Given the description of an element on the screen output the (x, y) to click on. 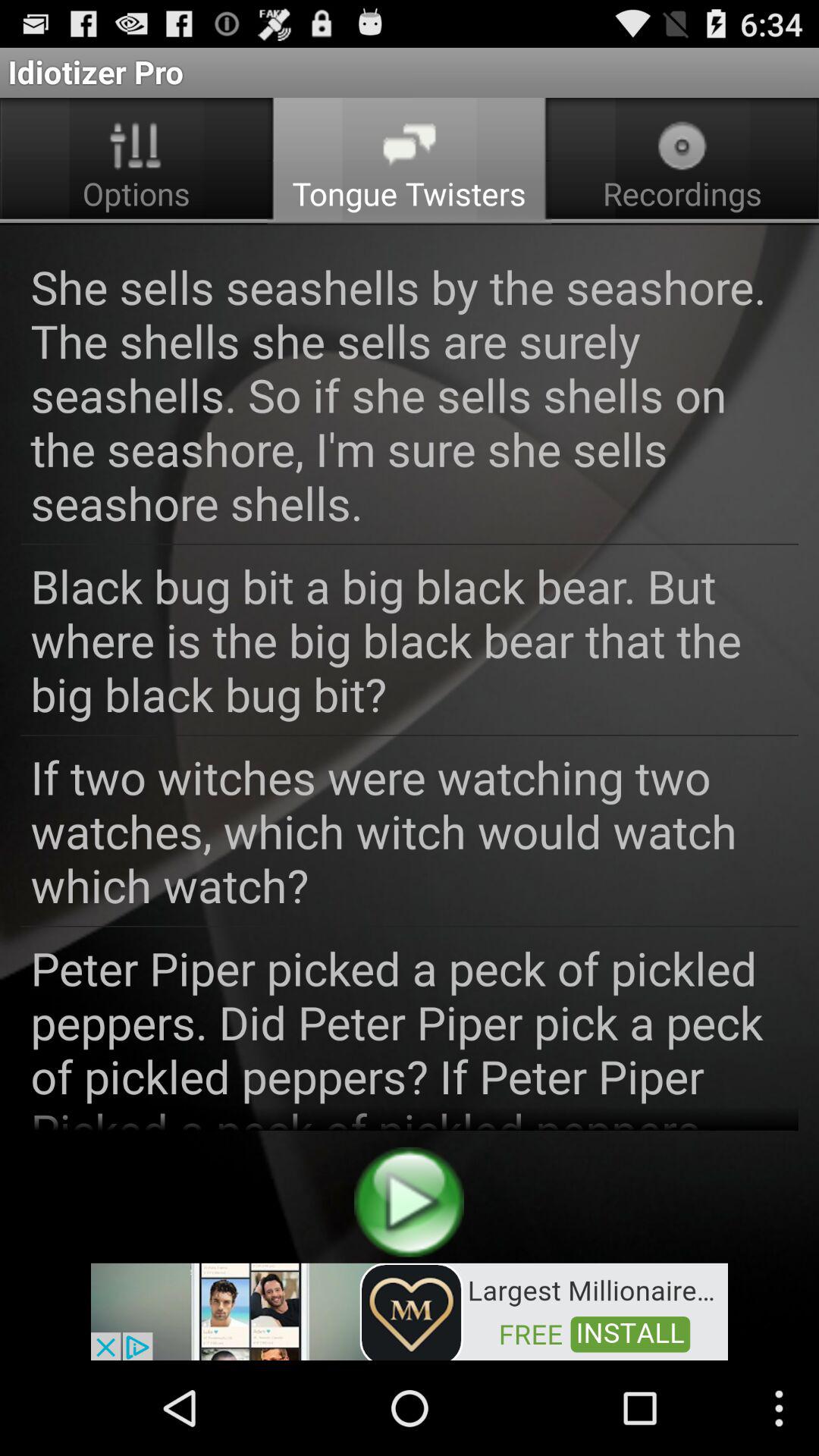
go to play (409, 1201)
